Given the description of an element on the screen output the (x, y) to click on. 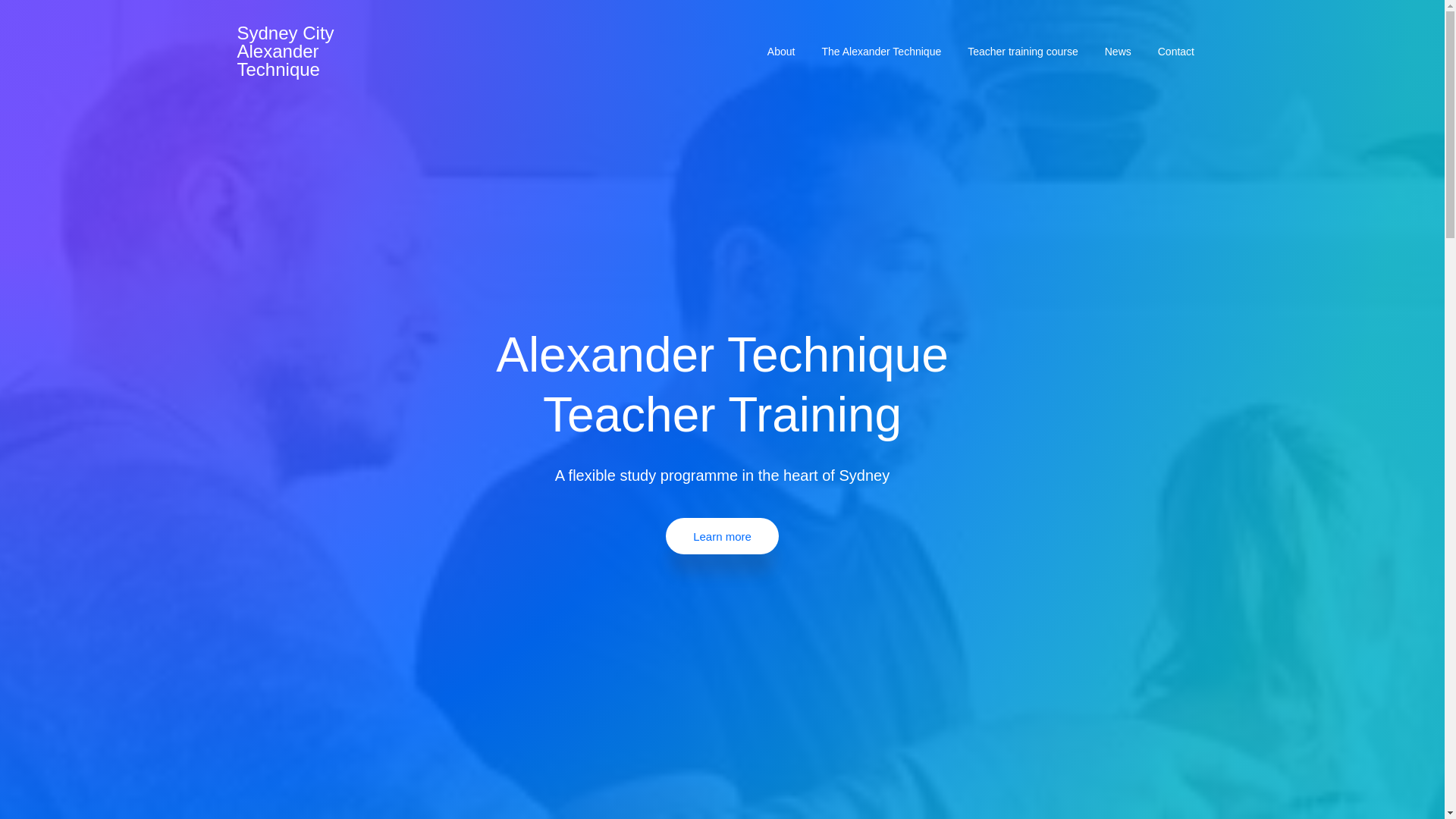
Teacher training course (1023, 51)
Sydney City Alexander Technique (284, 50)
Contact (1175, 51)
Learn more (721, 535)
News (1117, 51)
About (781, 51)
The Alexander Technique (881, 51)
Search (45, 18)
